Given the description of an element on the screen output the (x, y) to click on. 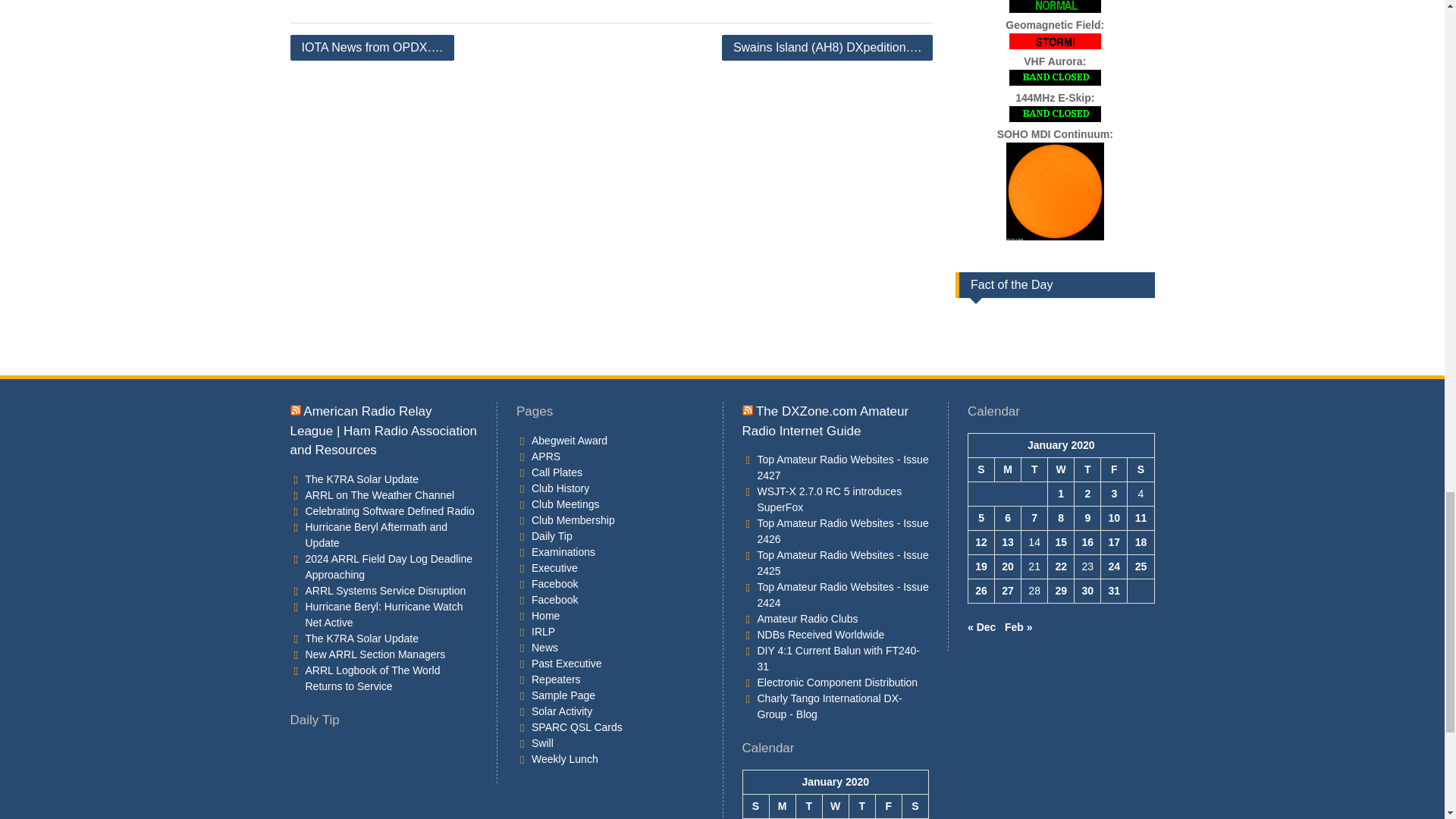
Sunday (755, 805)
Thursday (1087, 469)
Friday (888, 805)
Saturday (1140, 469)
Monday (1008, 469)
Wednesday (835, 805)
Thursday (861, 805)
Your Remote S-Meter (990, 320)
Sunday (981, 469)
Tuesday (1035, 469)
Saturday (914, 805)
Monday (781, 805)
Tuesday (808, 805)
Wednesday (1061, 469)
Friday (1113, 469)
